Given the description of an element on the screen output the (x, y) to click on. 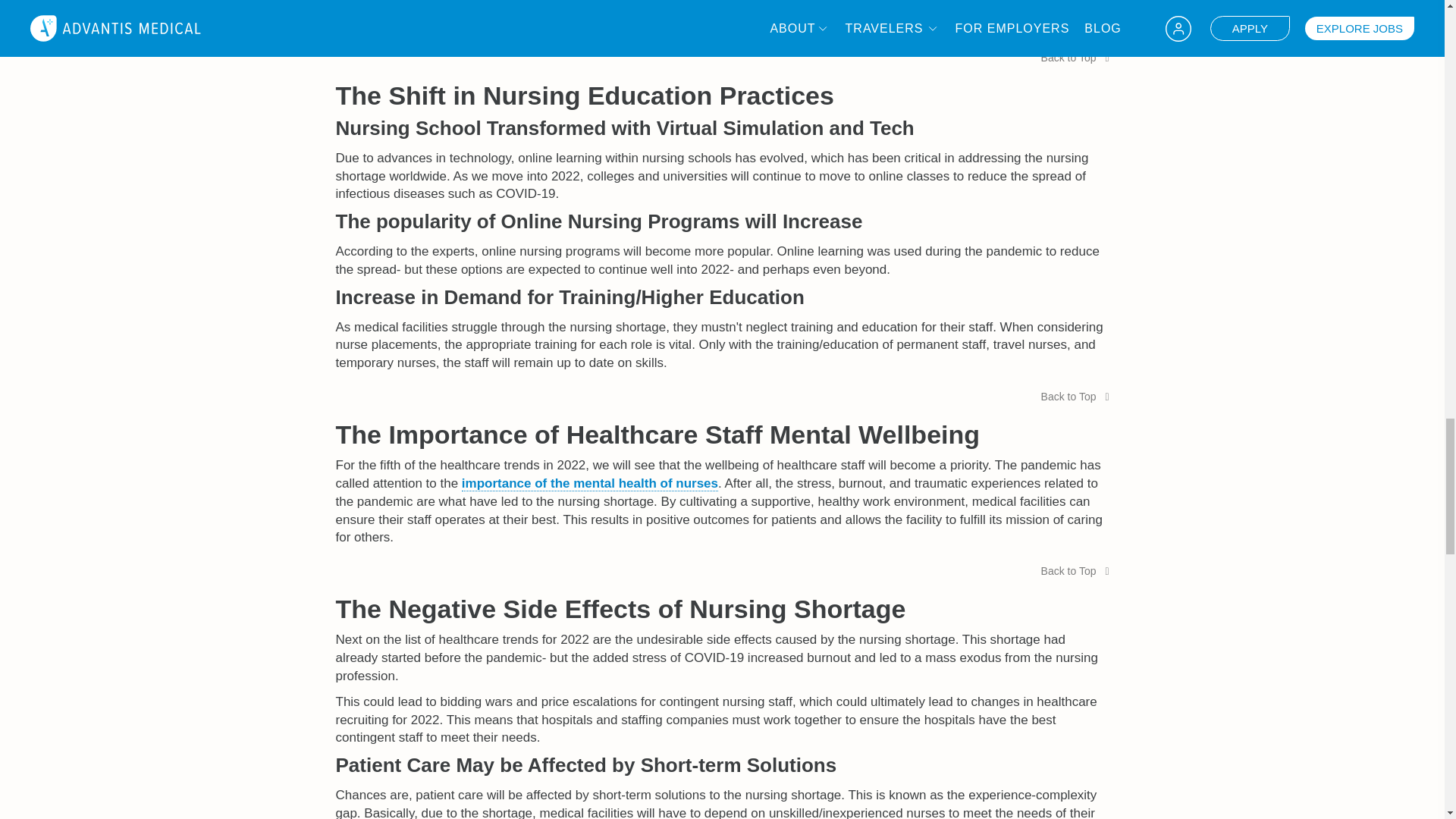
importance of the mental health of nurses (589, 483)
